Given the description of an element on the screen output the (x, y) to click on. 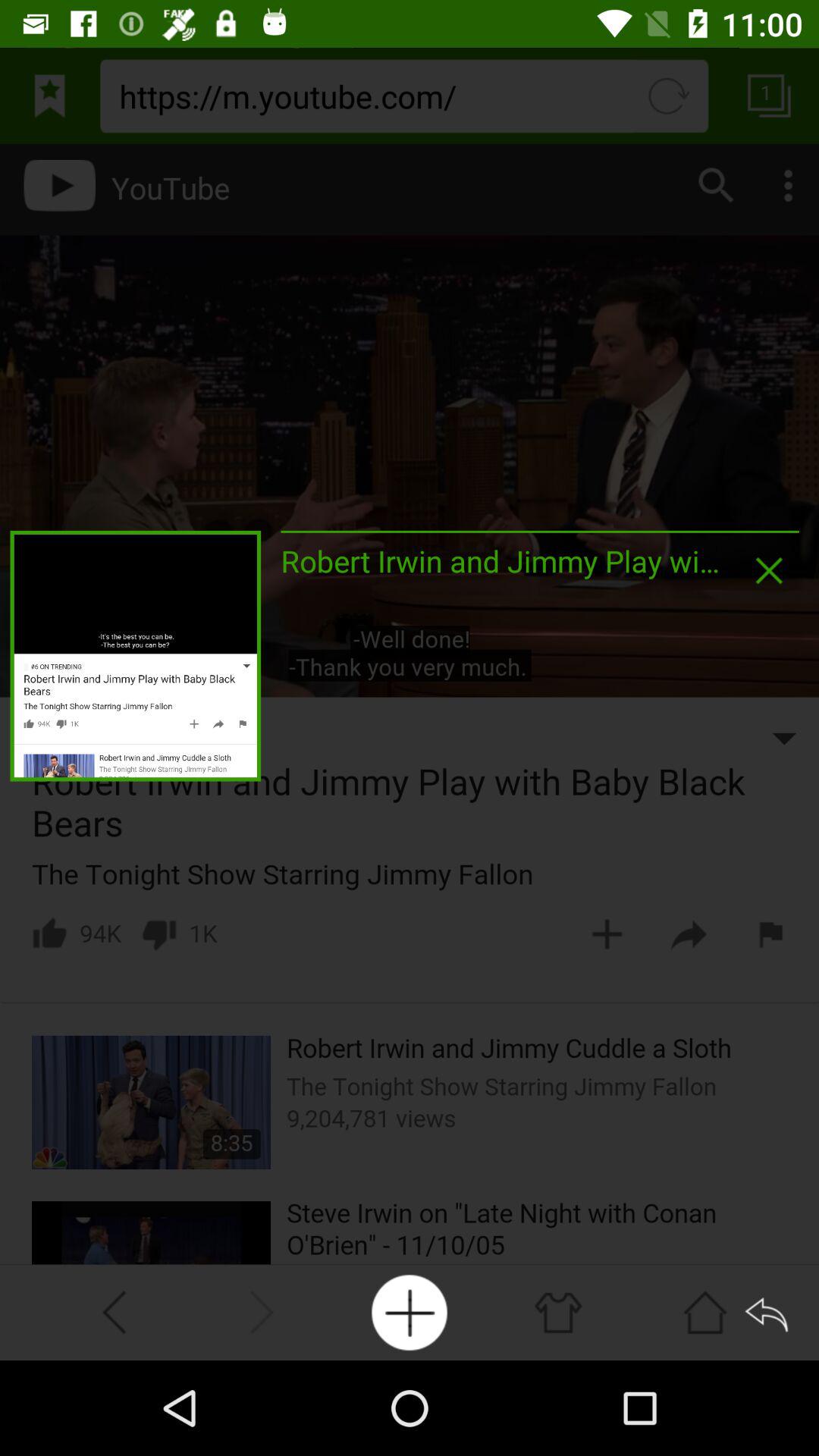
press icon at the bottom (409, 1312)
